Given the description of an element on the screen output the (x, y) to click on. 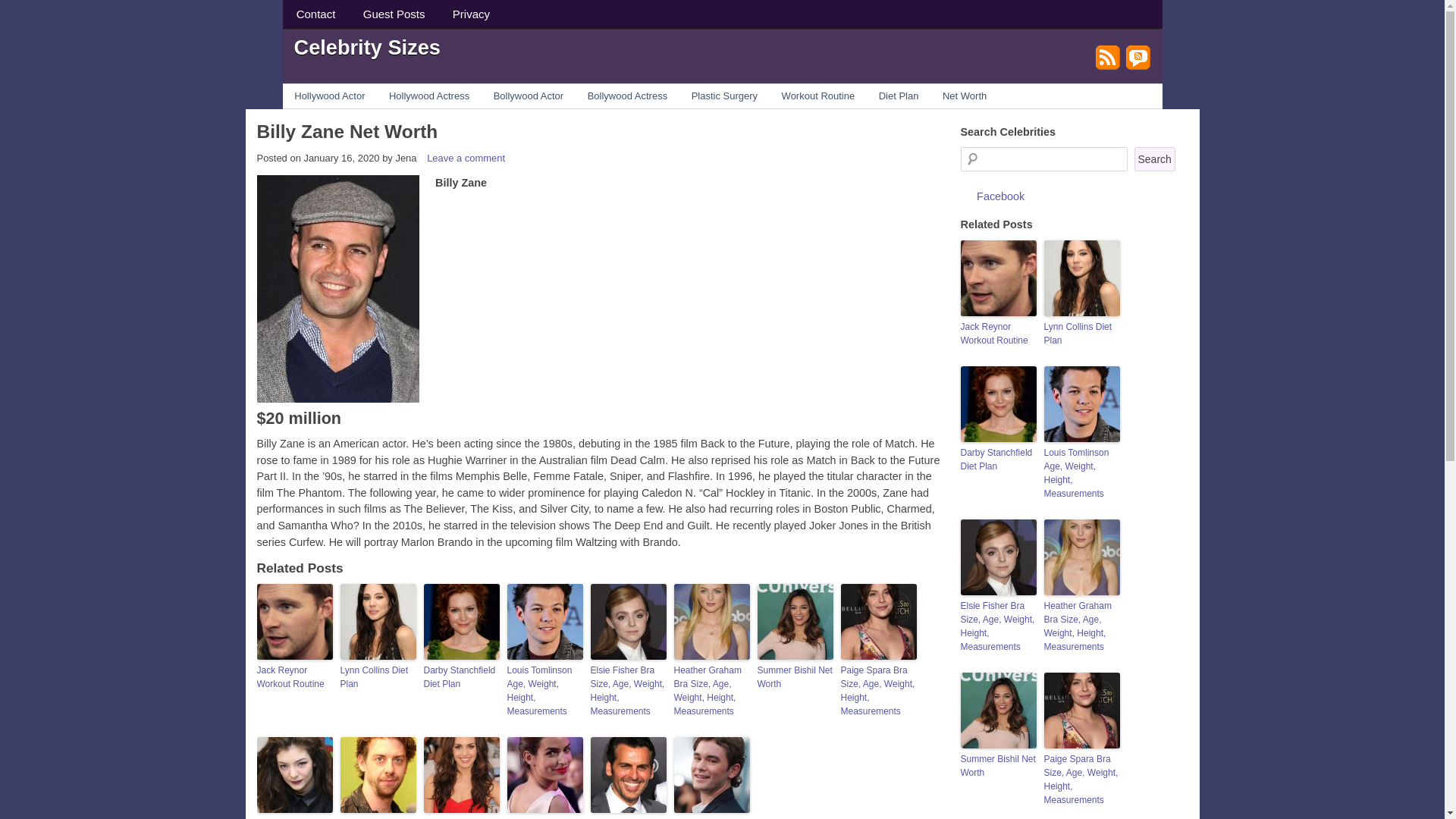
Jena (405, 157)
Elsie Fisher Bra Size, Age, Weight, Height, Measurements (627, 690)
Guest Posts (394, 14)
Louis Tomlinson Age, Weight, Height, Measurements (544, 690)
Privacy (471, 14)
Bollywood Actress (627, 96)
Plastic Surgery (724, 96)
Jack Reynor Workout Routine (293, 677)
Darby Stanchfield Diet Plan (461, 677)
Bollywood Actor (528, 96)
Christian Borle Net Worth (376, 817)
Diet Plan (898, 96)
Lorde Bra Size, Age, Weight, Height, Measurements (293, 817)
Contact (315, 14)
Lynn Collins Diet Plan (376, 677)
